Given the description of an element on the screen output the (x, y) to click on. 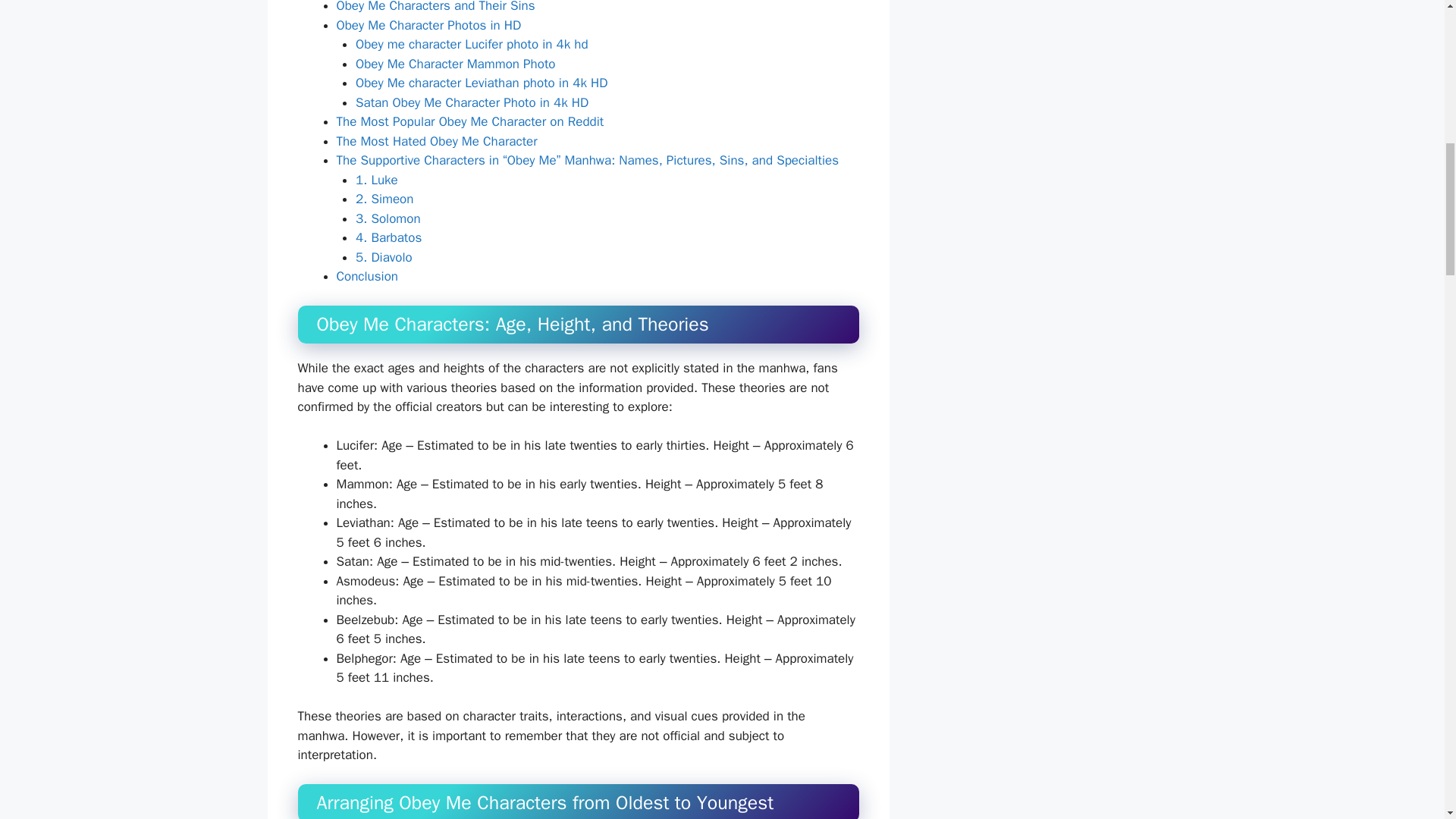
Obey me character Lucifer photo in 4k hd (471, 44)
5. Diavolo (383, 257)
Obey Me character Leviathan photo in 4k HD (481, 82)
Obey Me Character Photos in HD (428, 25)
The Most Hated Obey Me Character (436, 141)
Conclusion (366, 276)
3. Solomon (387, 218)
Obey Me Characters and Their Sins (435, 6)
1. Luke (376, 179)
Satan Obey Me Character Photo in 4k HD (471, 102)
Obey Me Character Mammon Photo (454, 64)
2. Simeon (384, 198)
The Most Popular Obey Me Character on Reddit (470, 121)
4. Barbatos (388, 237)
